Given the description of an element on the screen output the (x, y) to click on. 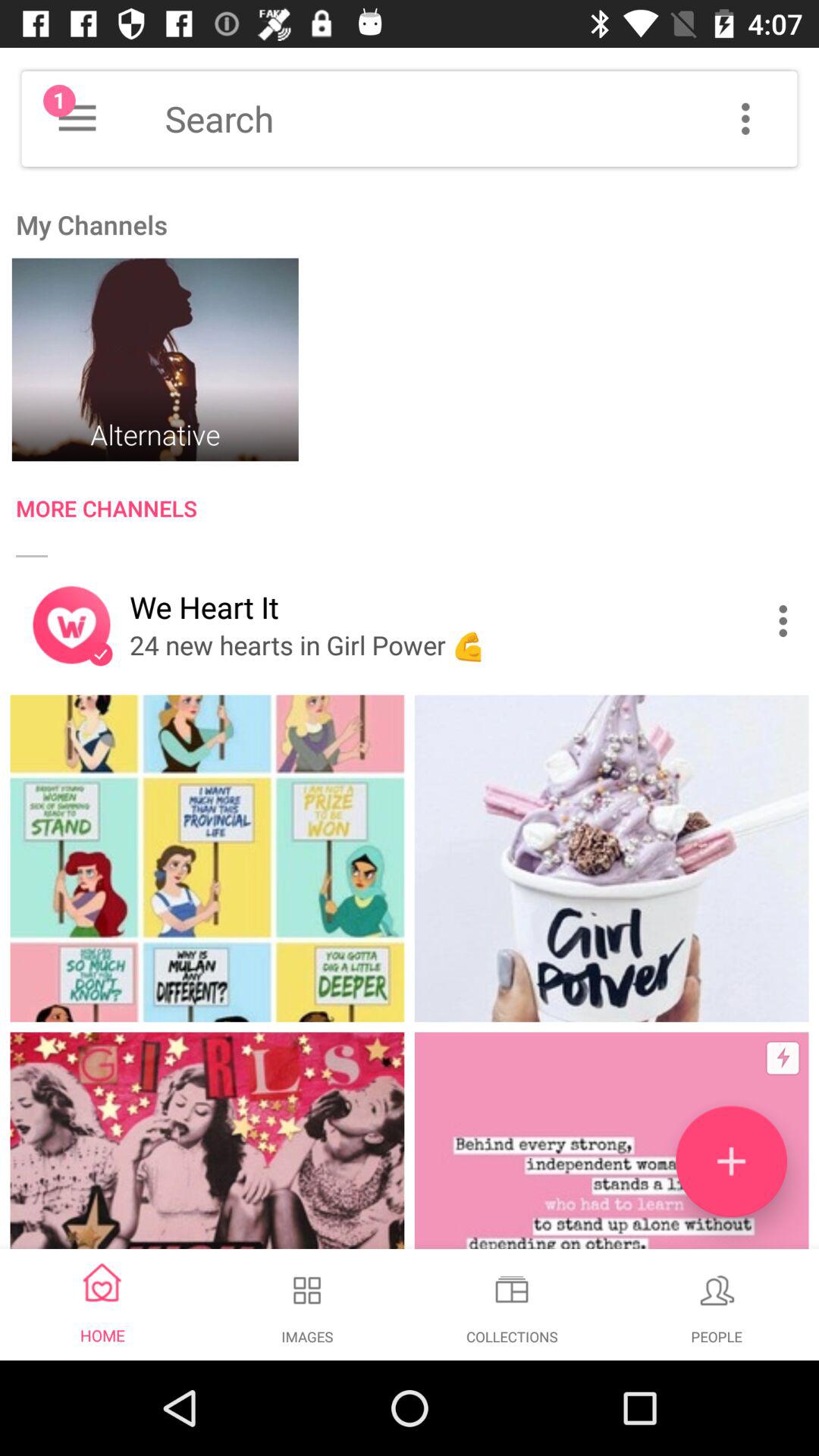
create new collection (731, 1161)
